Given the description of an element on the screen output the (x, y) to click on. 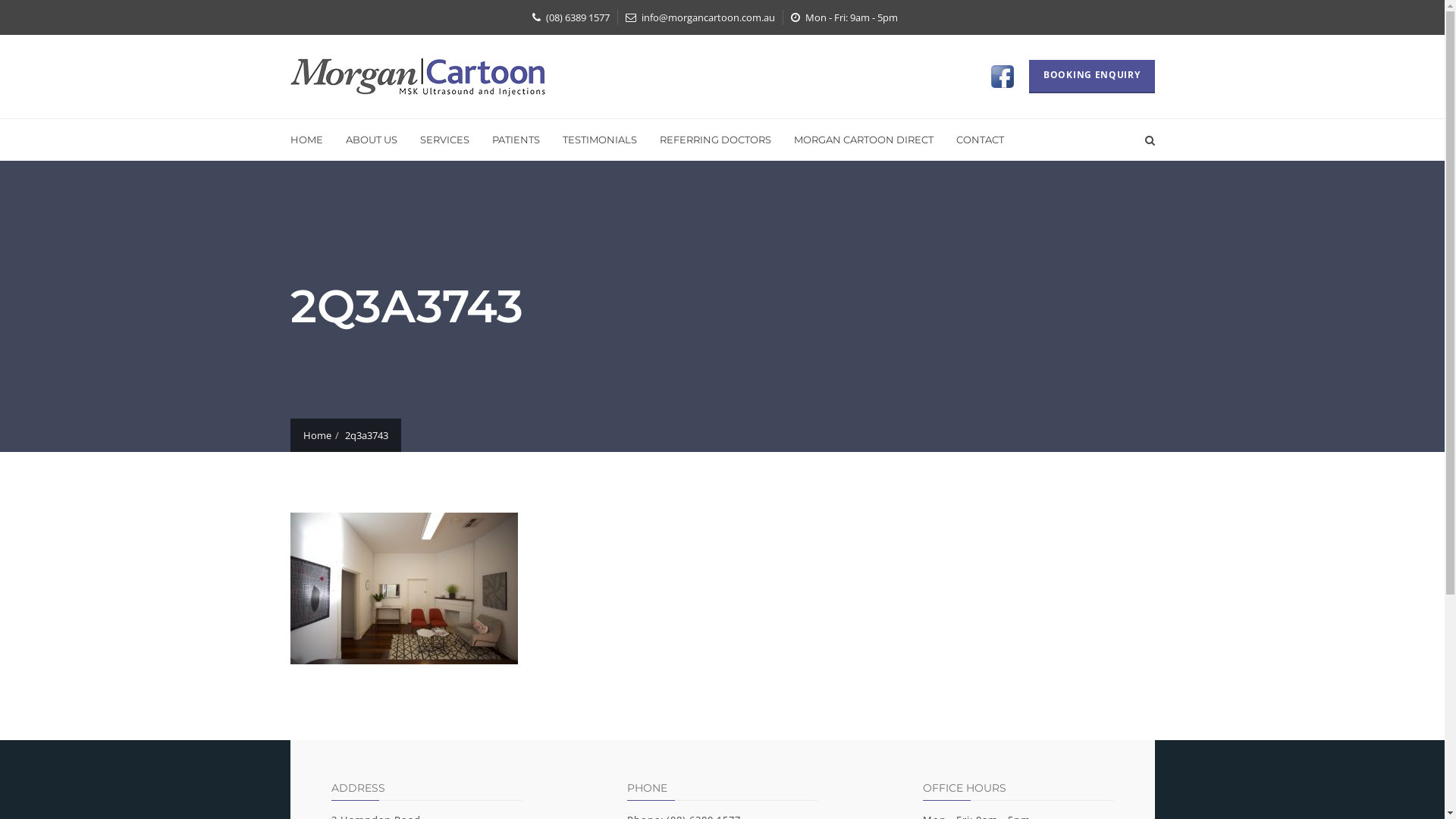
TESTIMONIALS Element type: text (598, 139)
PATIENTS Element type: text (515, 139)
Facebook Element type: hover (1004, 76)
BOOKING ENQUIRY Element type: text (1091, 76)
ABOUT US Element type: text (370, 139)
MORGAN CARTOON DIRECT Element type: text (863, 139)
Morgan Cartoon Element type: hover (416, 76)
Home Element type: text (317, 435)
HOME Element type: text (311, 139)
CONTACT Element type: text (979, 139)
SERVICES Element type: text (443, 139)
REFERRING DOCTORS Element type: text (714, 139)
